Given the description of an element on the screen output the (x, y) to click on. 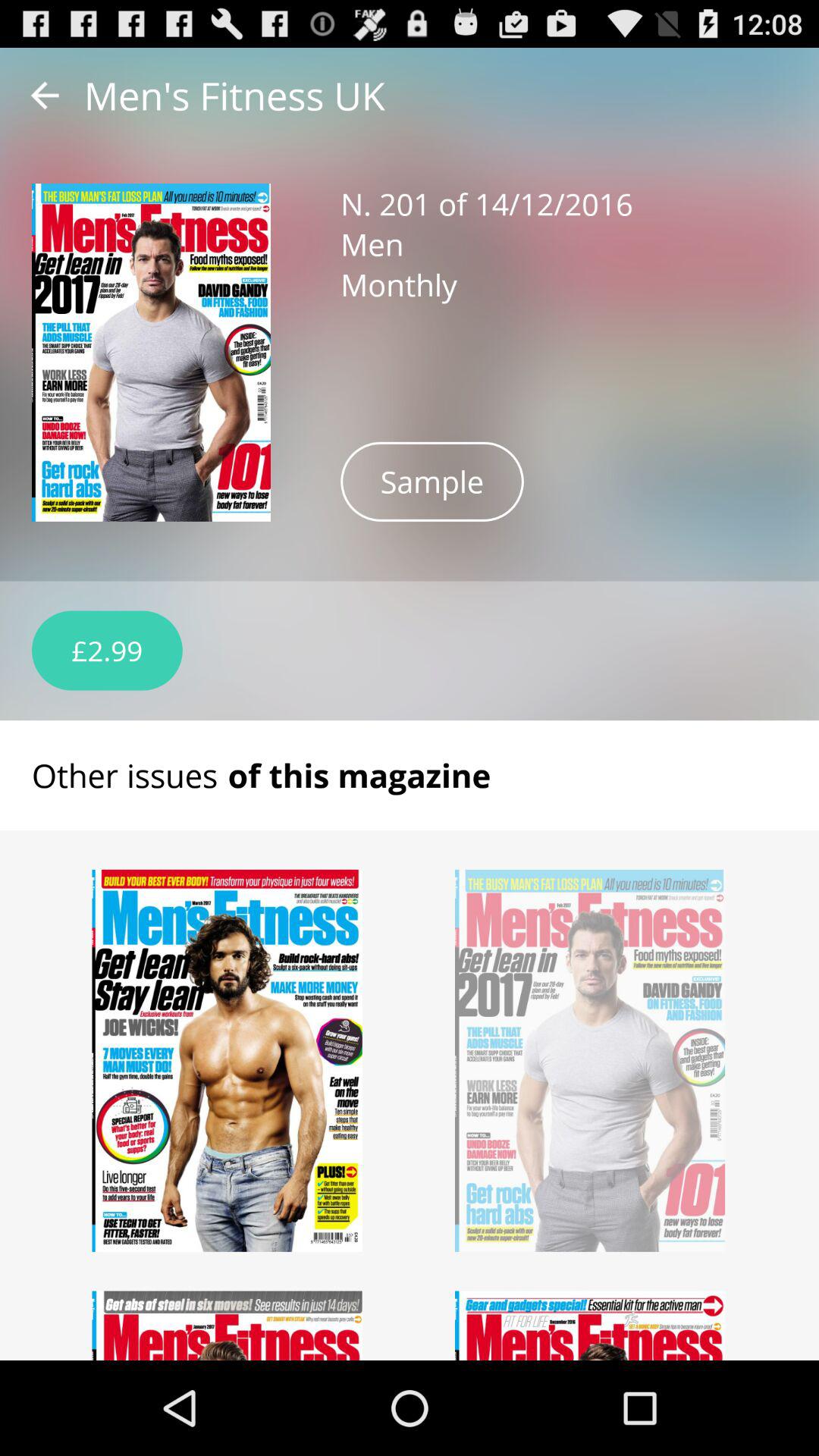
tap the item below monthly icon (431, 481)
